Given the description of an element on the screen output the (x, y) to click on. 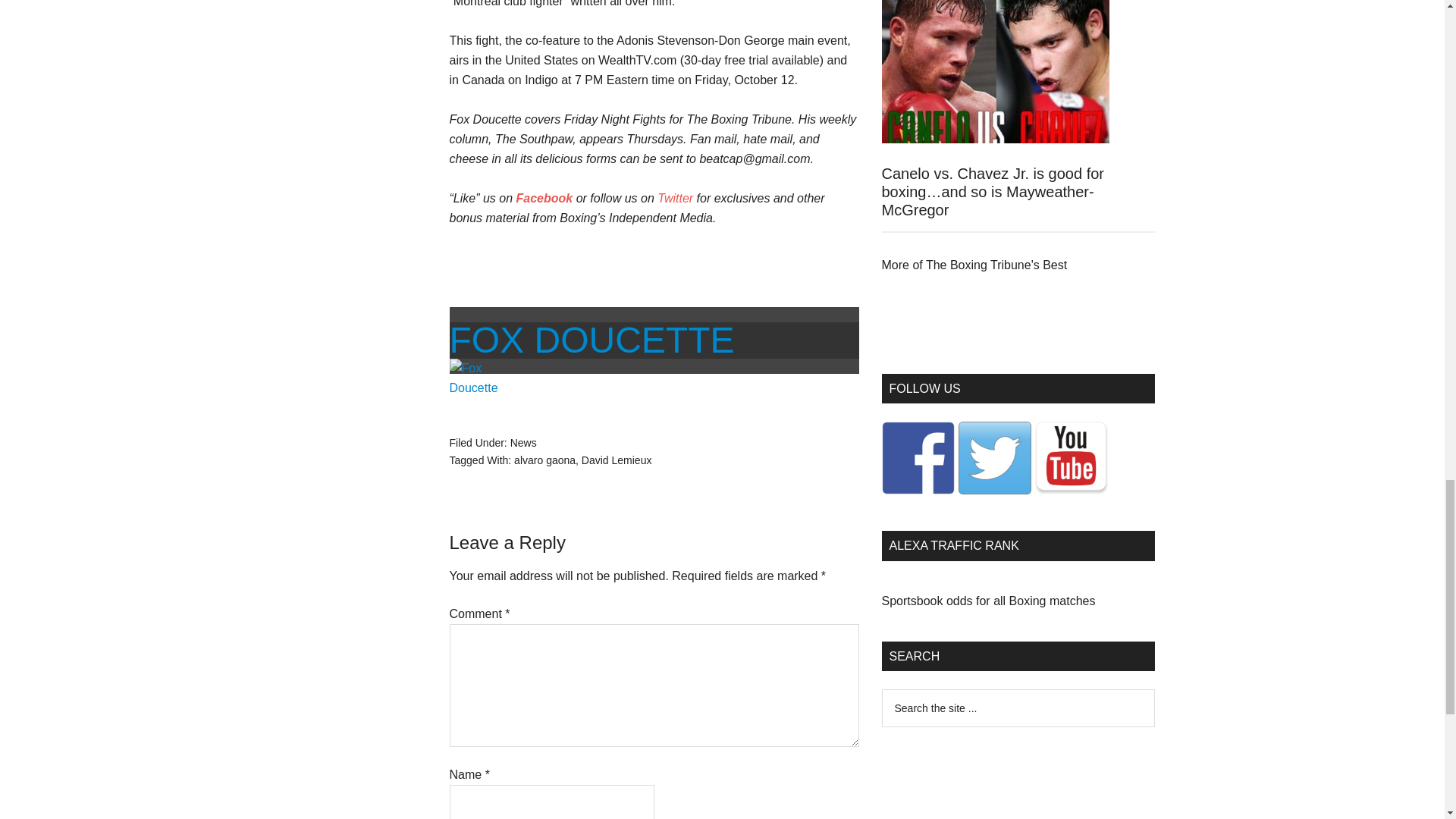
Find us on YouTube (1069, 457)
Sportsbook odds for all Boxing matches (987, 600)
More of The Boxing Tribune's Best (973, 264)
David Lemieux (616, 459)
alvaro gaona (544, 459)
Facebook (544, 197)
Twitter (675, 197)
Sportsbook odds for all Boxing matches (987, 600)
News (524, 442)
bestof (973, 264)
Fox Doucette (590, 340)
FOX DOUCETTE (590, 340)
Follow us on Facebook (916, 457)
